Given the description of an element on the screen output the (x, y) to click on. 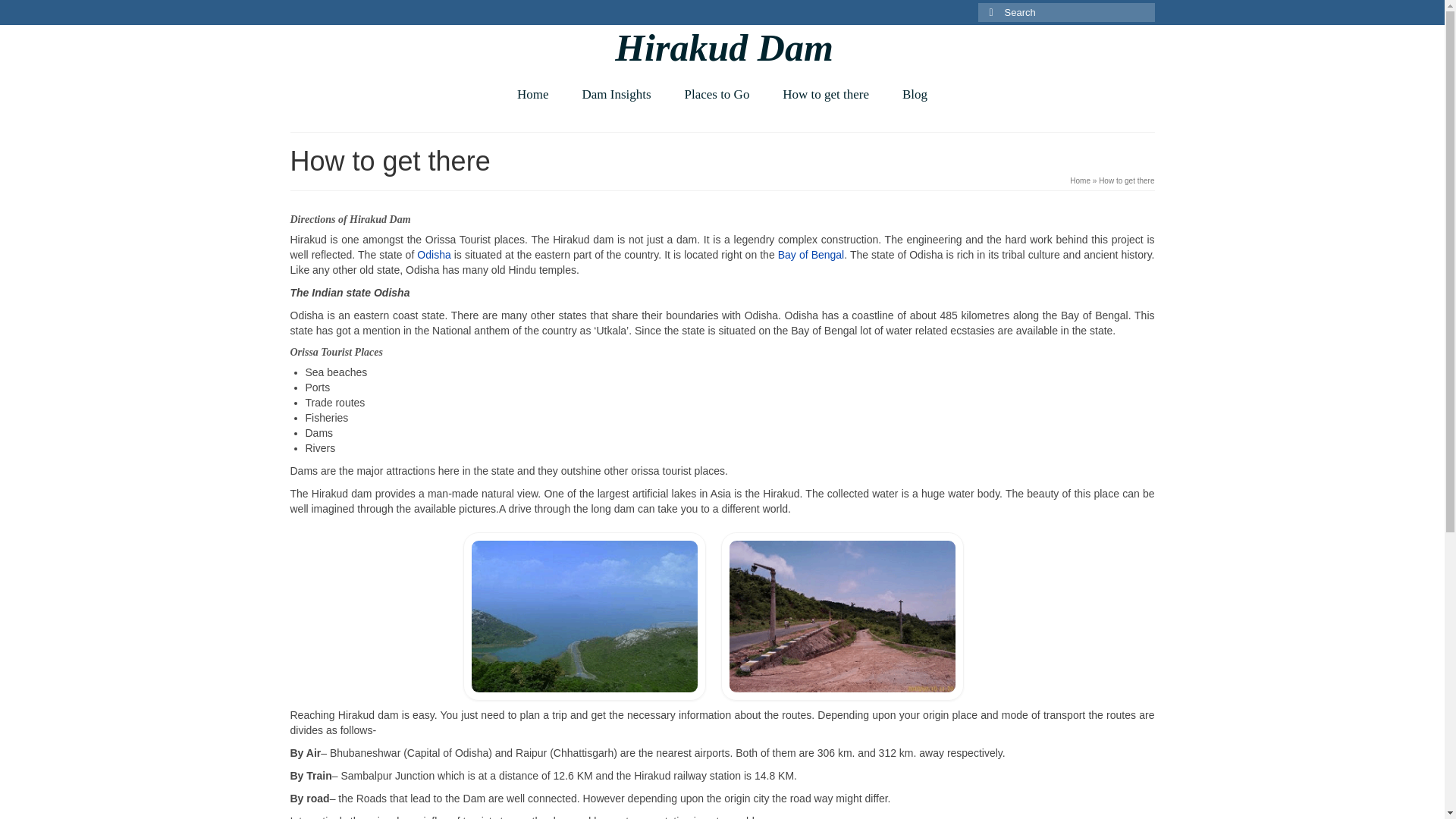
Places to Go (716, 94)
Blog (914, 94)
Home (533, 94)
Odisha (432, 254)
Dam Insights (615, 94)
How to get there (825, 94)
Home (1080, 180)
Bay of Bengal (810, 254)
Hirakud Dam (723, 47)
